Given the description of an element on the screen output the (x, y) to click on. 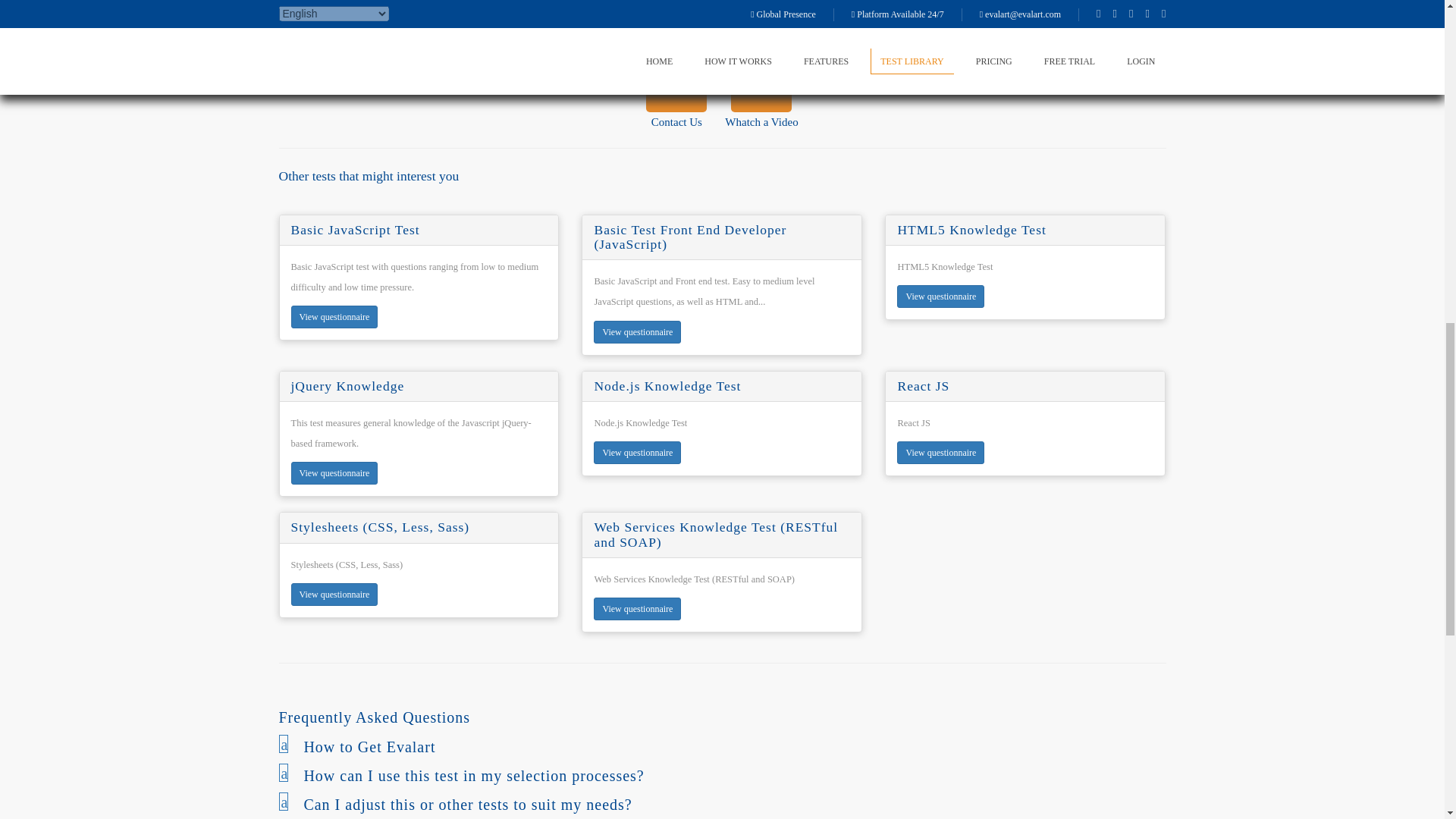
Contact Us (676, 91)
View questionnaire (722, 746)
View questionnaire (334, 316)
Whatch a Video (334, 594)
View questionnaire (761, 91)
View questionnaire (722, 804)
View questionnaire (334, 472)
View questionnaire (940, 296)
View questionnaire (637, 608)
Click here to open Frequently Asked Questions (637, 332)
View questionnaire (722, 775)
